Given the description of an element on the screen output the (x, y) to click on. 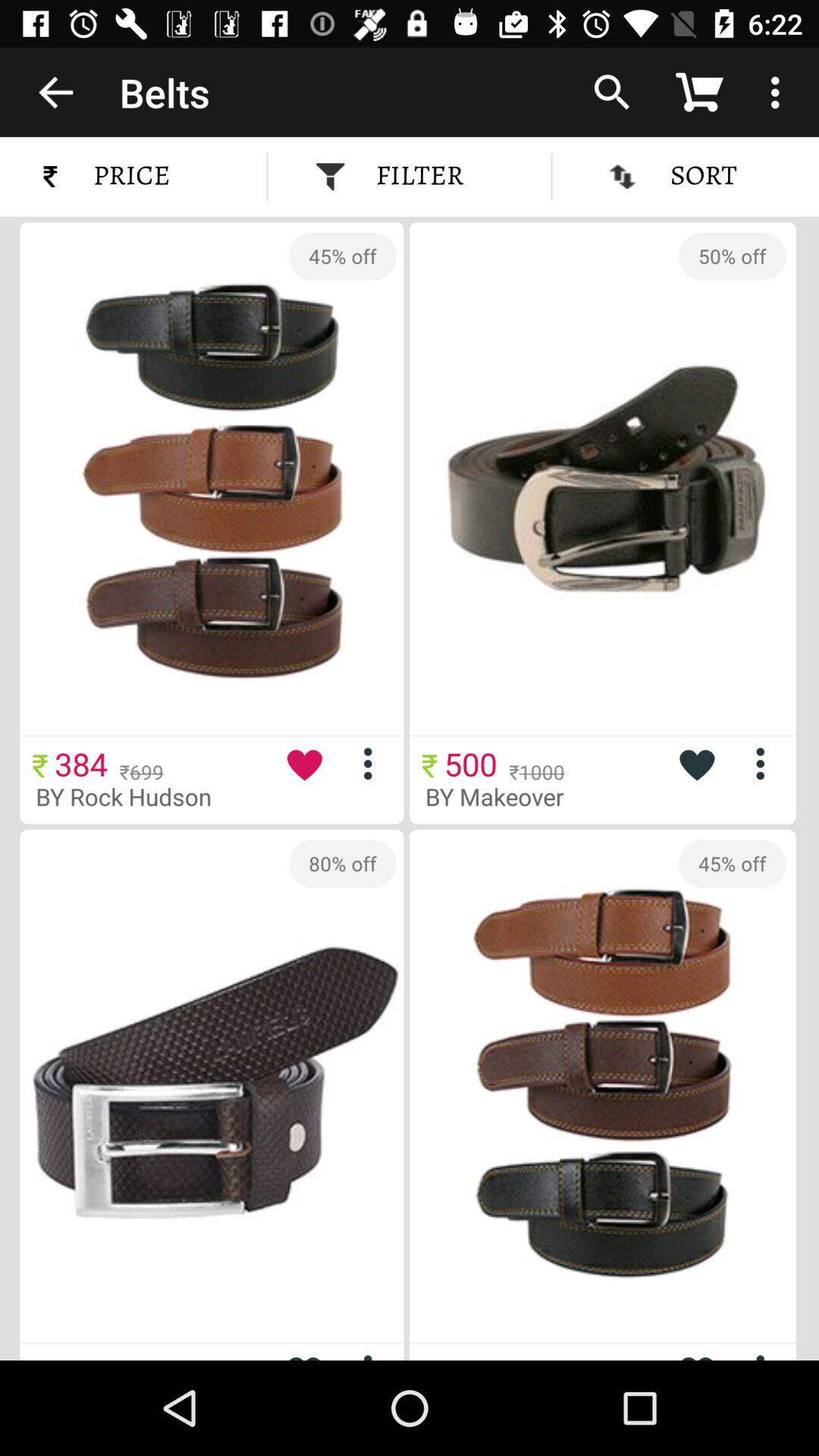
add to favorites (304, 1351)
